Given the description of an element on the screen output the (x, y) to click on. 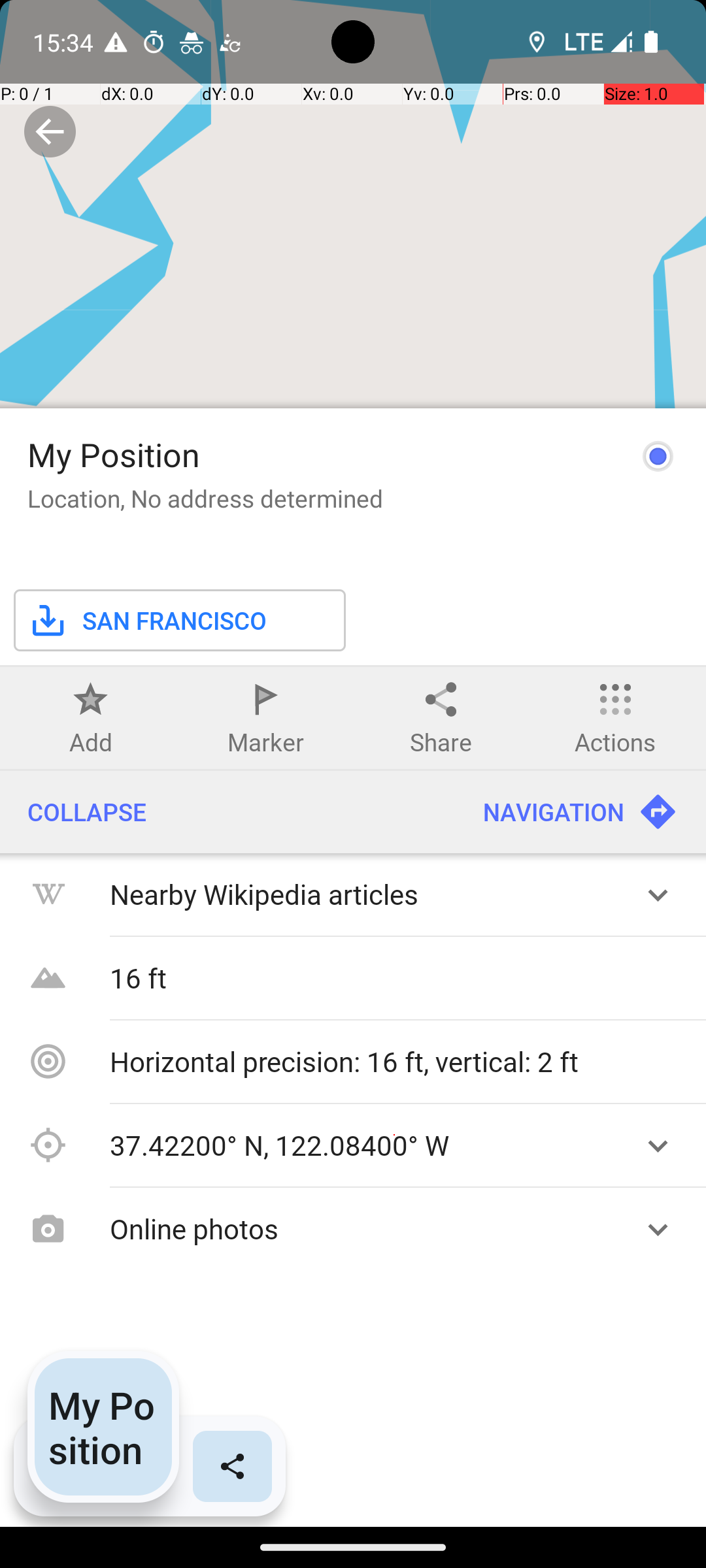
Collapse Element type: android.widget.ImageView (49, 131)
My Position Element type: android.widget.TextView (113, 454)
Location, No address determined Element type: android.widget.TextView (205, 497)
COLLAPSE Element type: android.widget.TextView (227, 811)
NAVIGATION Element type: android.widget.TextView (580, 811)
Add Element type: android.widget.TextView (90, 741)
Marker Element type: android.widget.TextView (265, 741)
SAN FRANCISCO Element type: android.widget.TextView (146, 620)
Nearby Wikipedia articles Element type: android.widget.TextView (364, 893)
16 ft Element type: android.widget.TextView (399, 977)
Horizontal precision: 16 ft, vertical: 2 ft Element type: android.widget.TextView (399, 1060)
37.42200° N, 122.08400° W Element type: android.widget.TextView (364, 1144)
Online photos Element type: android.widget.TextView (364, 1228)
VLC notification: Scanning for media files Element type: android.widget.ImageView (229, 41)
